Given the description of an element on the screen output the (x, y) to click on. 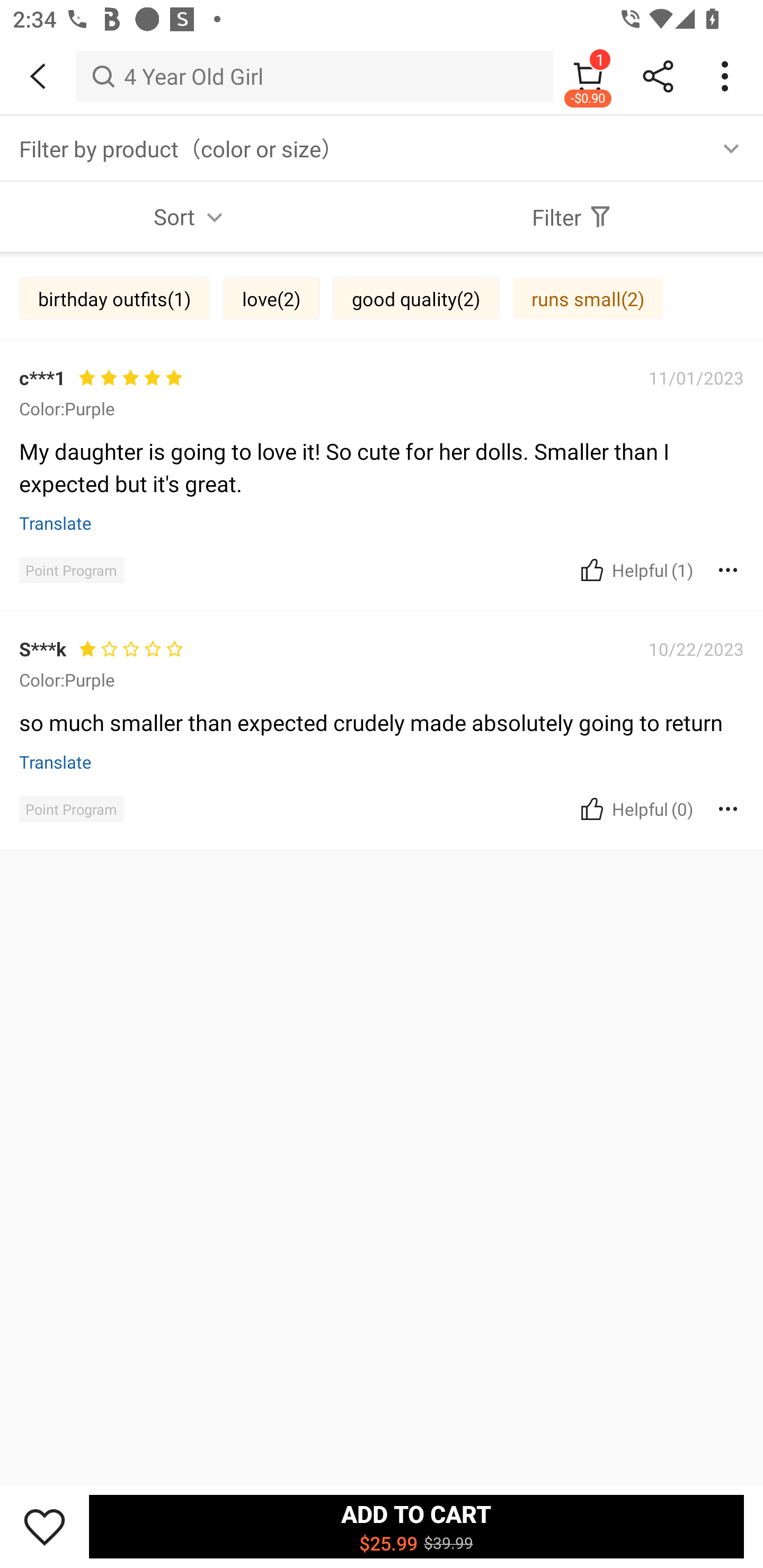
BACK (38, 75)
1 -$0.90 (588, 75)
4 Year Old Girl (314, 75)
Filter by product（color or size） (381, 148)
Sort (190, 215)
Filter (572, 215)
birthday outfits(1) (114, 298)
love(2) (270, 298)
good quality(2) (415, 298)
runs small(2) (587, 298)
Translate (55, 522)
Cancel Helpful Was this article helpful? (1) (634, 569)
Point Program (71, 569)
Translate (55, 761)
Cancel Helpful Was this article helpful? (0) (634, 808)
Point Program (71, 808)
ADD TO CART $25.99 $39.99 (416, 1526)
Save (44, 1526)
